Given the description of an element on the screen output the (x, y) to click on. 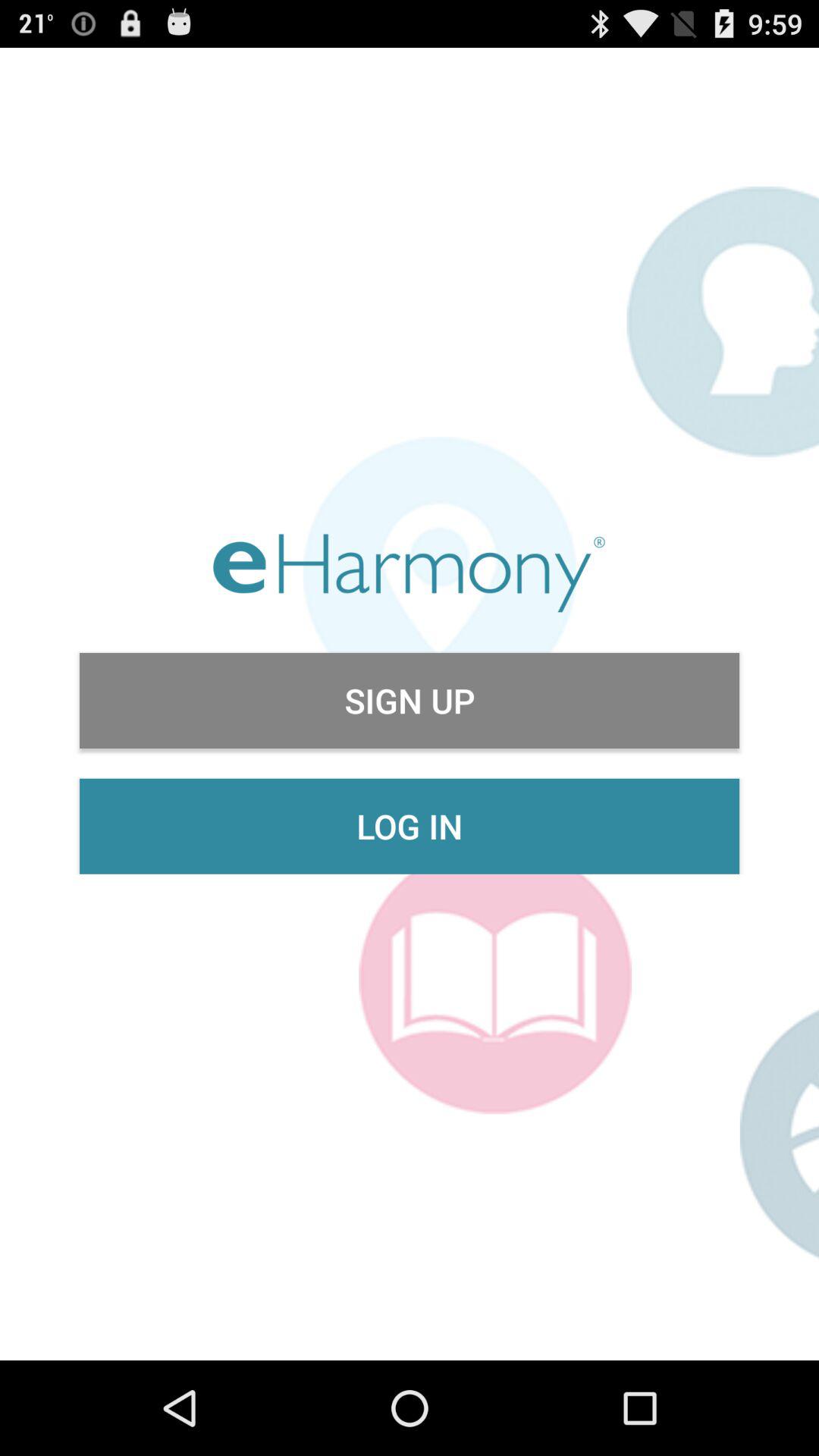
launch icon above log in item (409, 700)
